Given the description of an element on the screen output the (x, y) to click on. 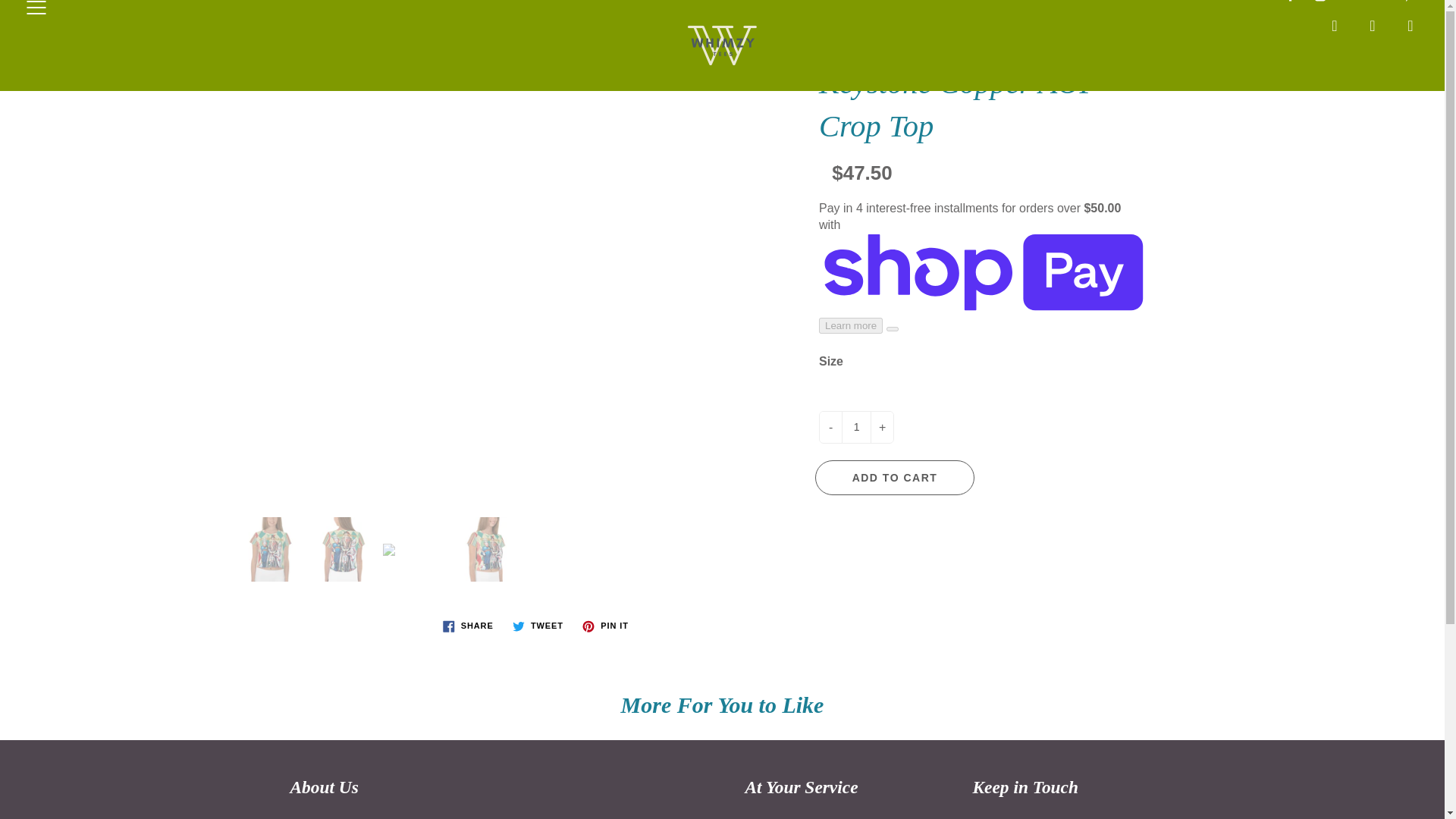
Press space bar to toggle menu (36, 9)
Pinterest (1408, 3)
Search (1334, 24)
YouTube (1379, 3)
My account (1372, 24)
1 (855, 427)
You have 0 items in your cart (1410, 24)
Twitter (1348, 3)
Instagram (1319, 3)
Facebook (1290, 3)
